Given the description of an element on the screen output the (x, y) to click on. 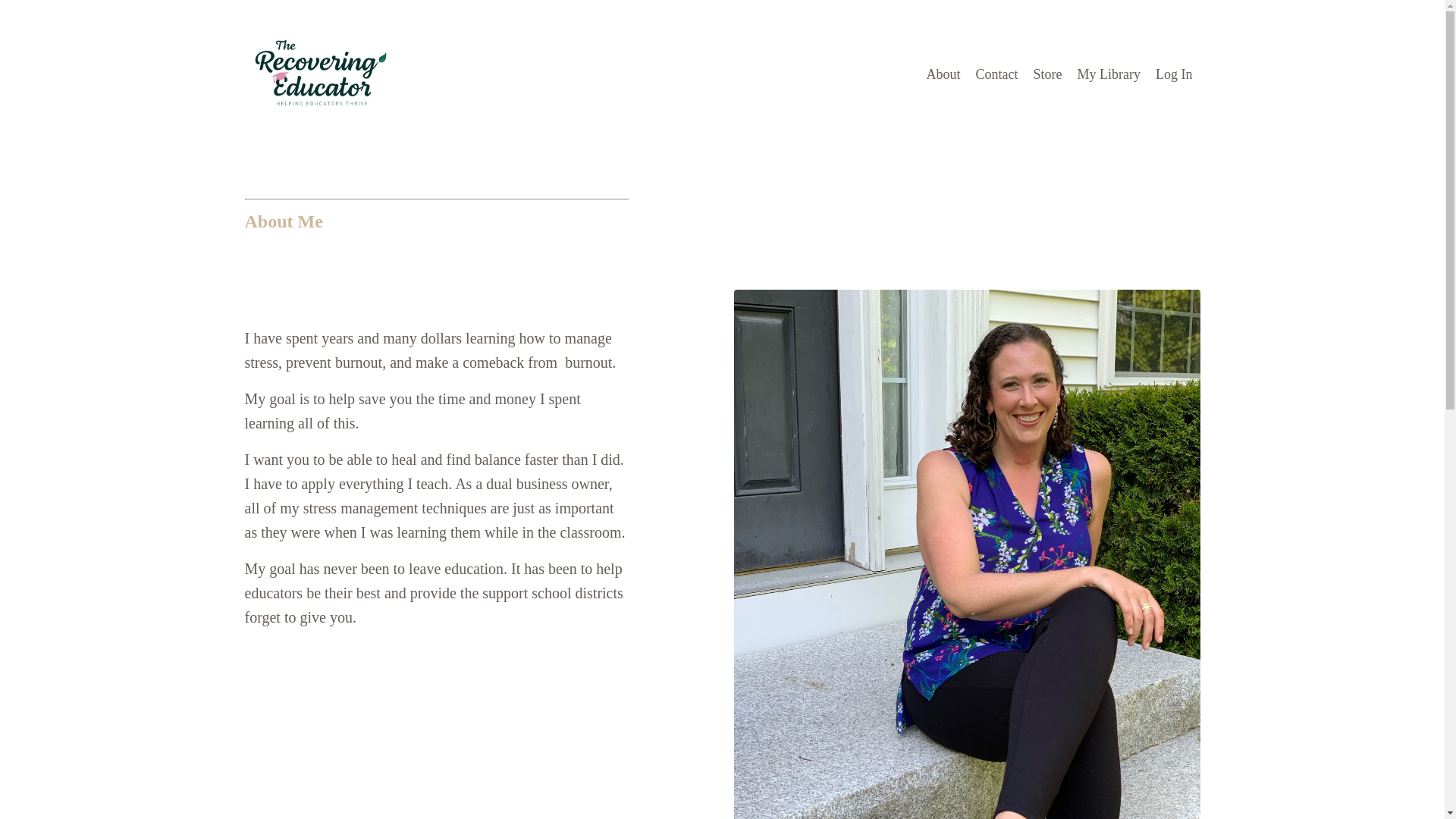
Log In (1174, 73)
Contact (996, 74)
About (943, 74)
Store (1047, 74)
My Library (1108, 74)
